Given the description of an element on the screen output the (x, y) to click on. 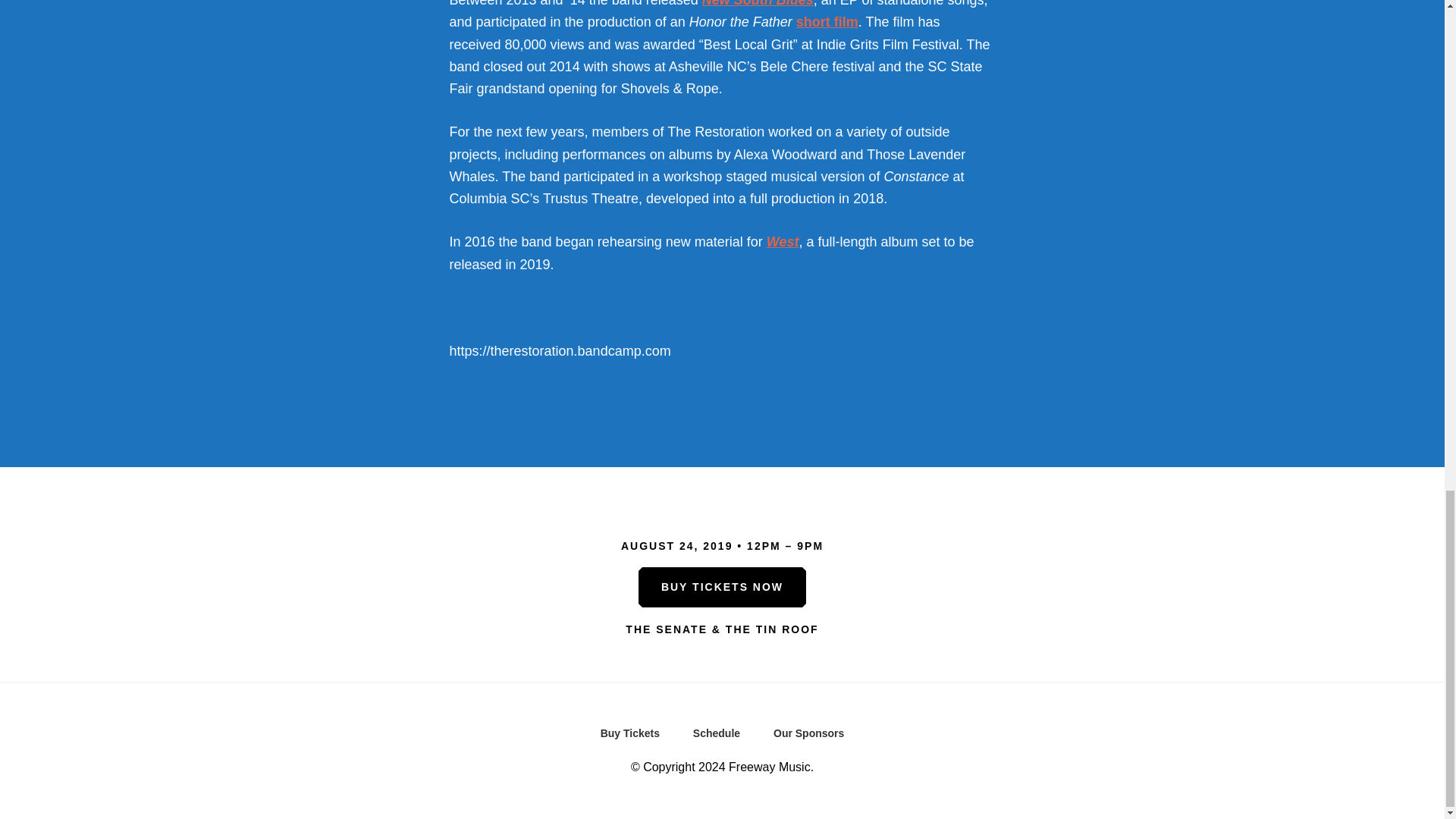
BUY TICKETS NOW (722, 586)
New South Blues (757, 3)
West (783, 241)
Schedule (716, 737)
Buy Tickets (630, 737)
Our Sponsors (808, 737)
short film (827, 21)
